Given the description of an element on the screen output the (x, y) to click on. 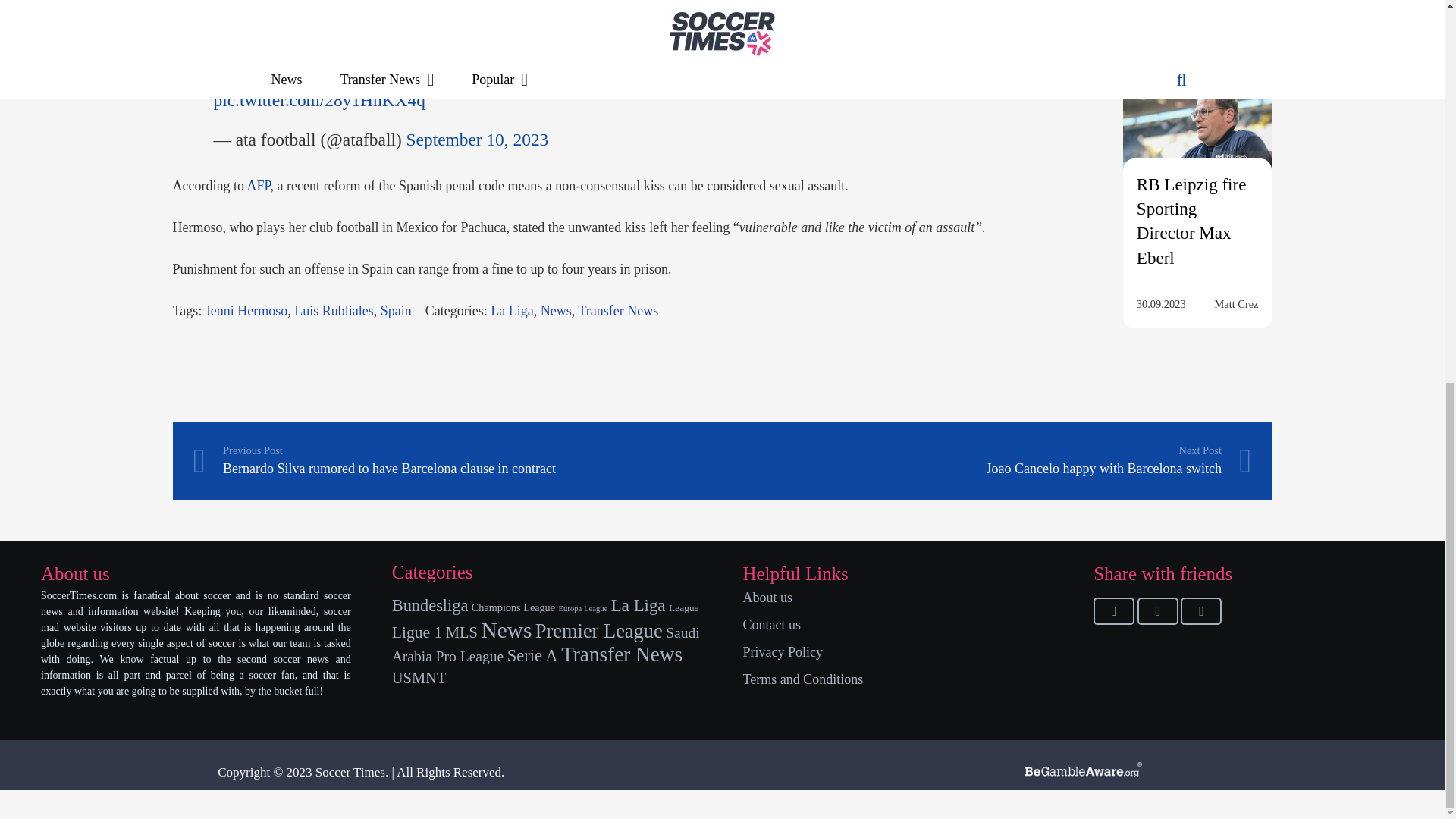
Jenni Hermoso (245, 310)
Tags (334, 310)
La Liga (511, 310)
Joao Cancelo happy with Barcelona switch (986, 461)
Share this (1113, 610)
Luis Rubliales (334, 310)
Transfer News (618, 310)
Bernardo Silva rumored to have Barcelona clause in contract (457, 461)
September 10, 2023 (477, 139)
Tags (396, 310)
Tags (245, 310)
RB Leipzig fire Sporting Director Max Eberl (1197, 139)
AFP (257, 185)
Matt Crez (1236, 6)
News (556, 310)
